Given the description of an element on the screen output the (x, y) to click on. 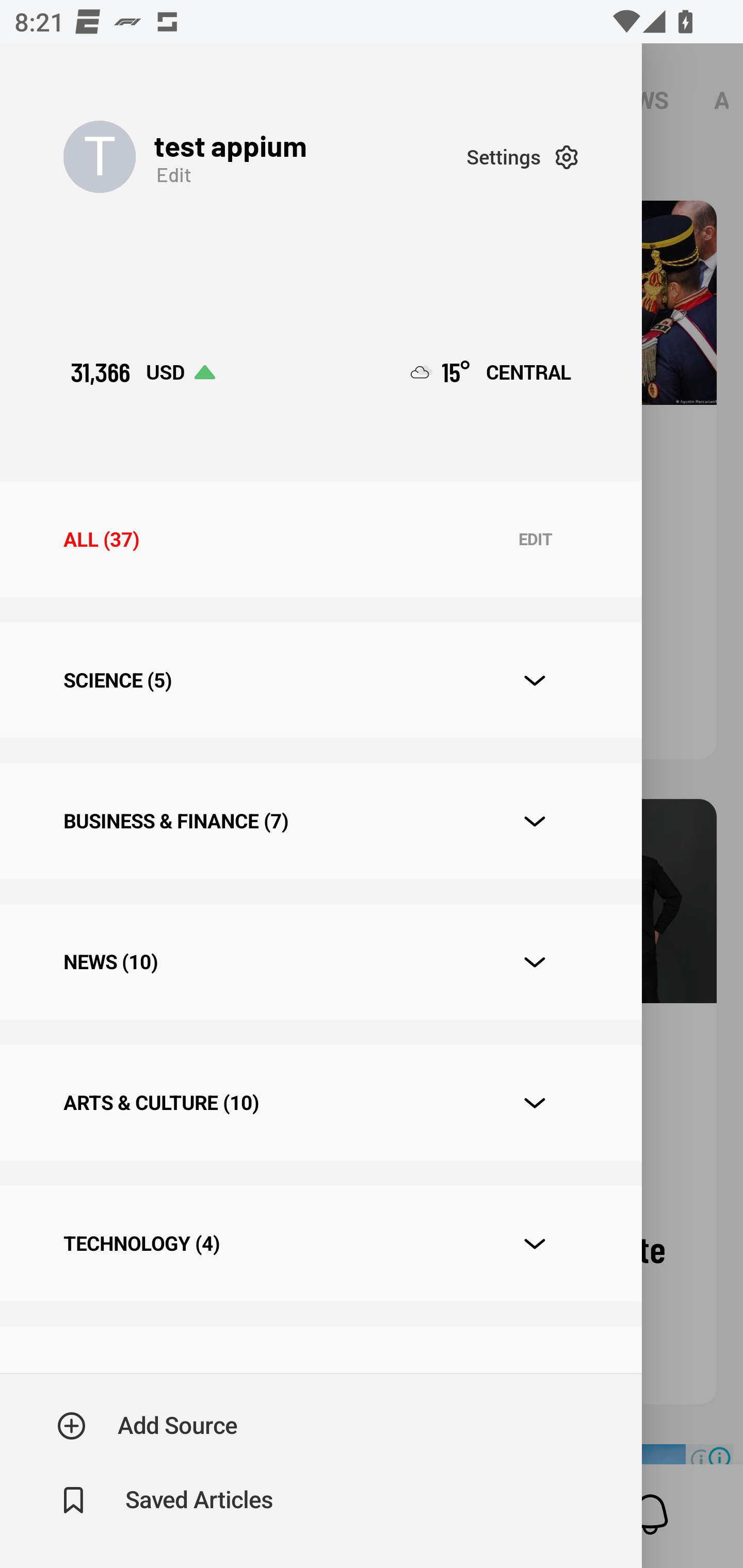
T test appium Edit (264, 156)
Settings Select News Style (522, 156)
31,366 USD Current State of the Currency (142, 372)
Current State of the Weather 15° CENTRAL (490, 372)
ALL  (37) EDIT (320, 539)
EDIT (534, 540)
SCIENCE  (5) Expand Button (320, 680)
Expand Button (534, 681)
BUSINESS & FINANCE  (7) Expand Button (320, 821)
Expand Button (534, 821)
NEWS  (10) Expand Button (320, 961)
Expand Button (534, 961)
ARTS & CULTURE  (10) Expand Button (320, 1102)
Expand Button (534, 1102)
TECHNOLOGY  (4) Expand Button (320, 1243)
Expand Button (534, 1244)
Open Content Store Add Source (147, 1425)
Open Saved News  Saved Articles (166, 1500)
